Given the description of an element on the screen output the (x, y) to click on. 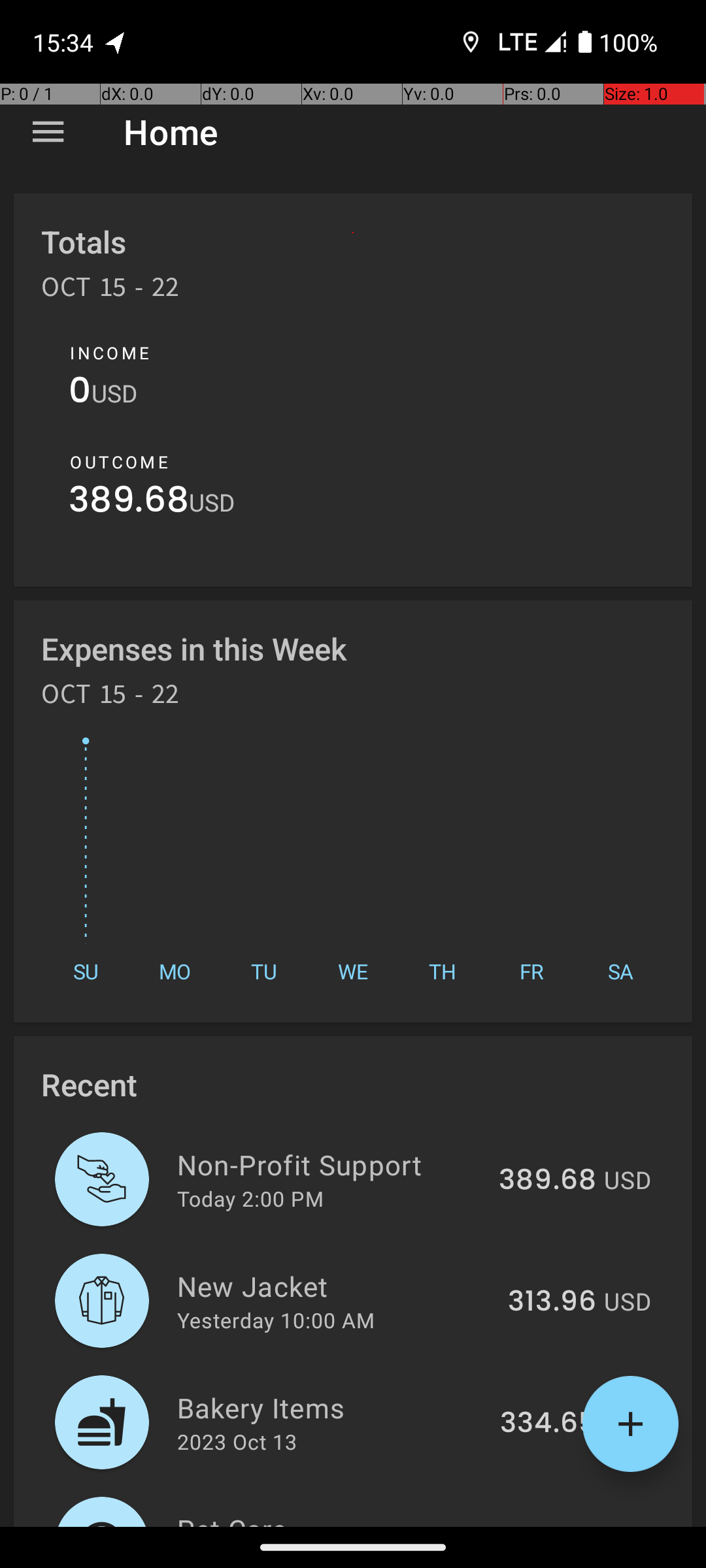
389.68 Element type: android.widget.TextView (128, 502)
Non-Profit Support Element type: android.widget.TextView (330, 1164)
Today 2:00 PM Element type: android.widget.TextView (250, 1198)
New Jacket Element type: android.widget.TextView (334, 1285)
Yesterday 10:00 AM Element type: android.widget.TextView (275, 1320)
313.96 Element type: android.widget.TextView (551, 1301)
Bakery Items Element type: android.widget.TextView (330, 1407)
334.65 Element type: android.widget.TextView (547, 1423)
Pet Care Element type: android.widget.TextView (330, 1518)
359.45 Element type: android.widget.TextView (547, 1524)
OpenTracks notification:  Element type: android.widget.ImageView (115, 41)
